Given the description of an element on the screen output the (x, y) to click on. 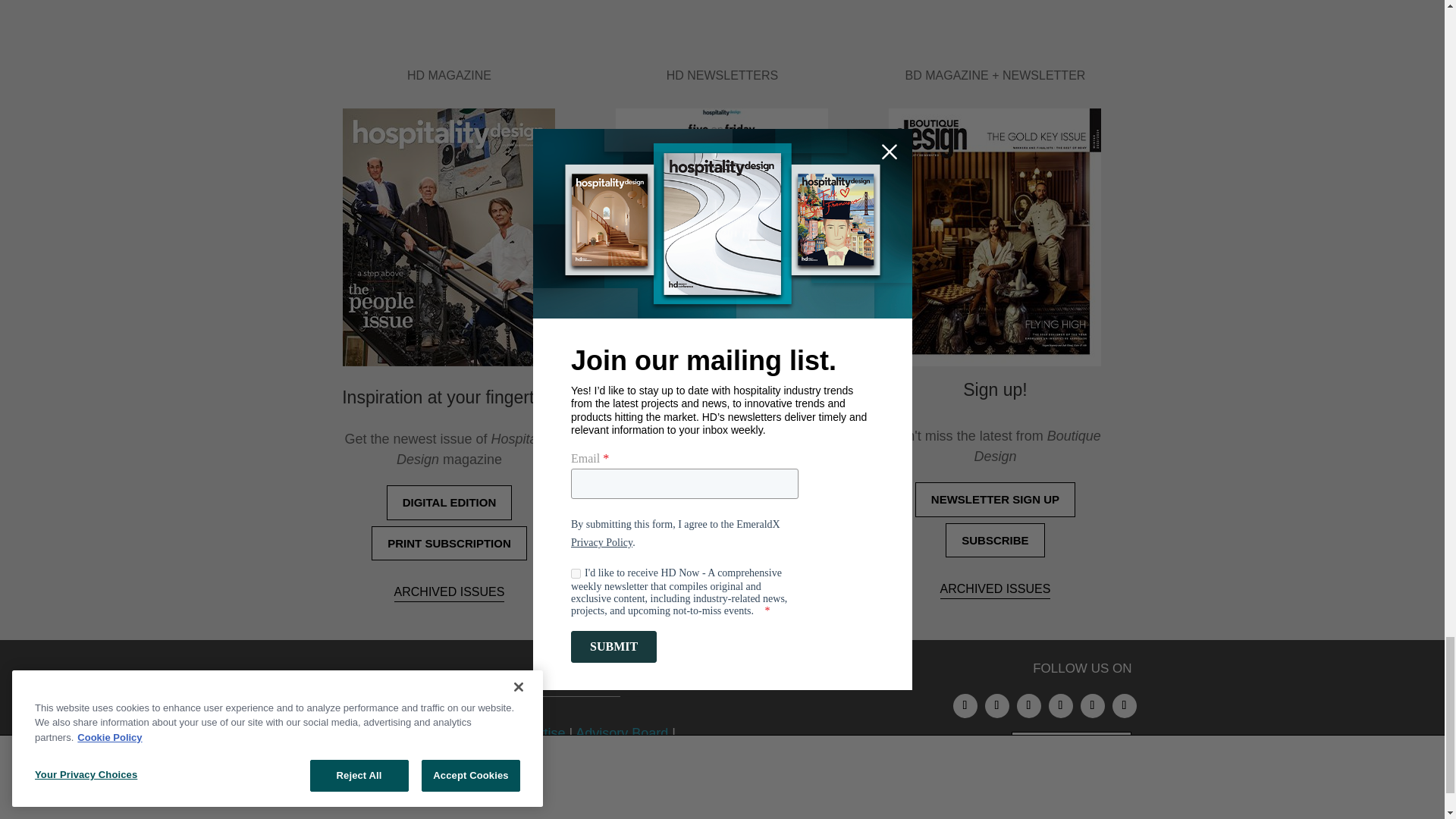
Follow on LinkedIn (997, 705)
Follow on X (1092, 705)
Follow on Instagram (964, 705)
Follow on Facebook (1028, 705)
boutique design winter 2023 issue (994, 237)
Follow on Pinterest (1060, 705)
preview-full-Newsletter-Five-on-Friday (721, 237)
Follow on Youtube (1124, 705)
july 2024 cover (448, 237)
logo-white (506, 698)
